Given the description of an element on the screen output the (x, y) to click on. 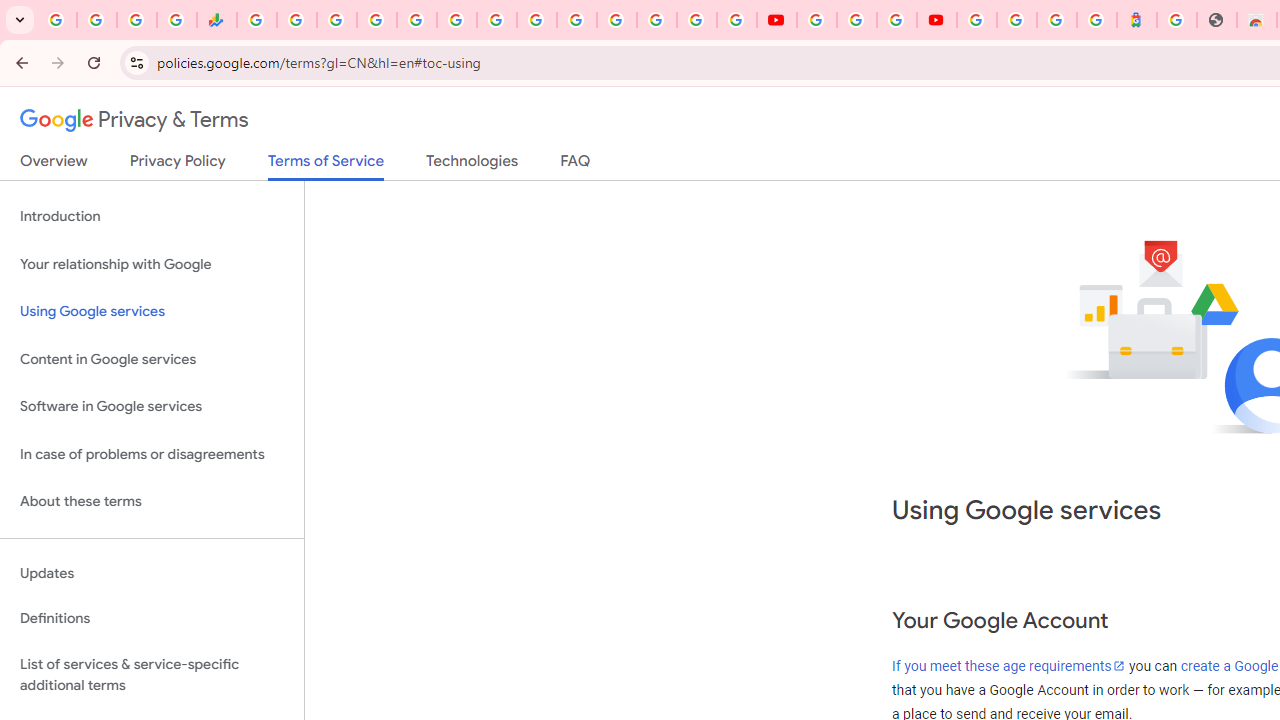
YouTube (776, 20)
Sign in - Google Accounts (376, 20)
Introduction (152, 216)
Google Account Help (856, 20)
List of services & service-specific additional terms (152, 674)
Software in Google services (152, 407)
Your relationship with Google (152, 263)
Privacy & Terms (134, 120)
In case of problems or disagreements (152, 453)
Google Workspace Admin Community (56, 20)
